Given the description of an element on the screen output the (x, y) to click on. 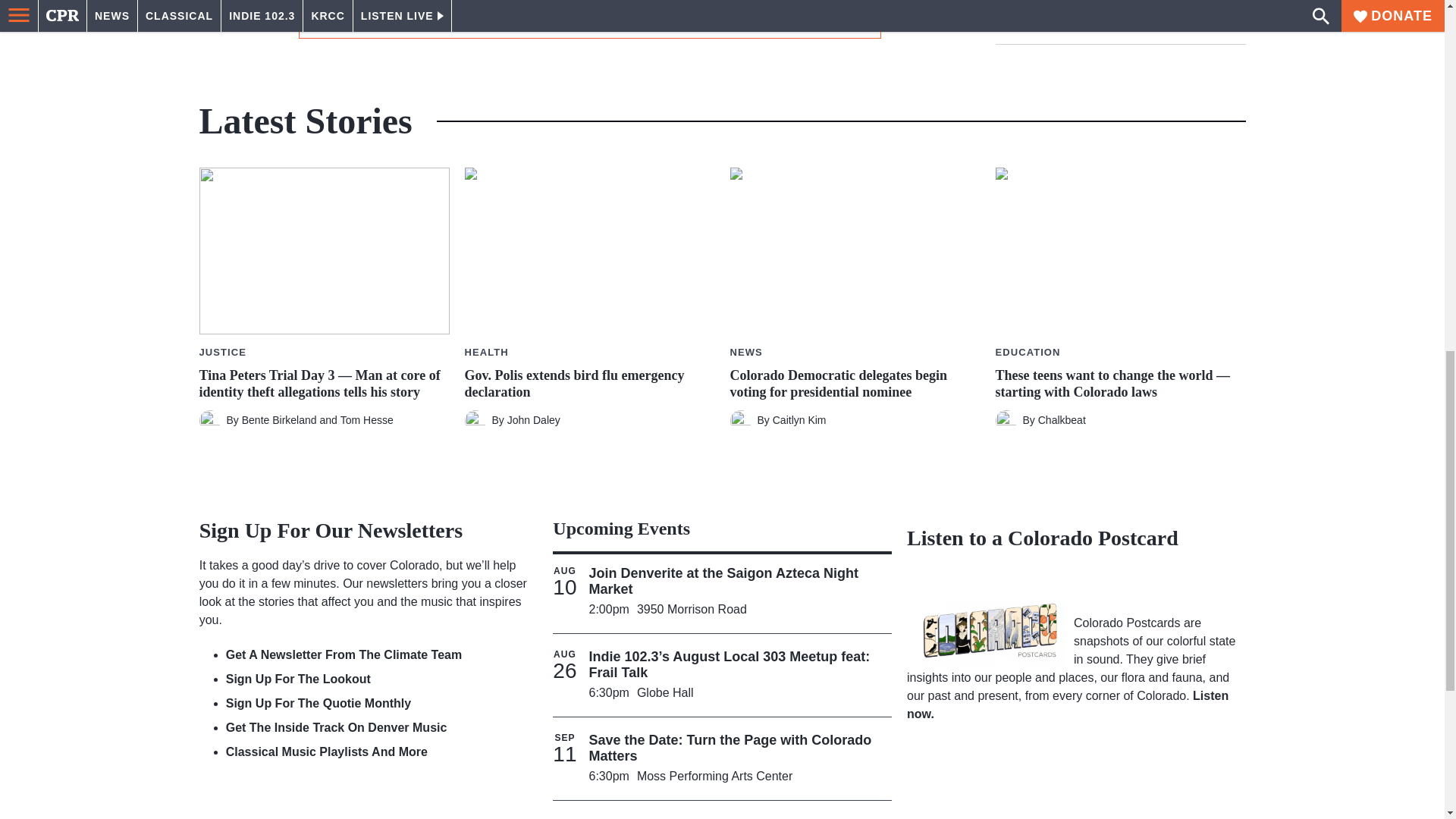
newsArticleSignup (589, 12)
